Given the description of an element on the screen output the (x, y) to click on. 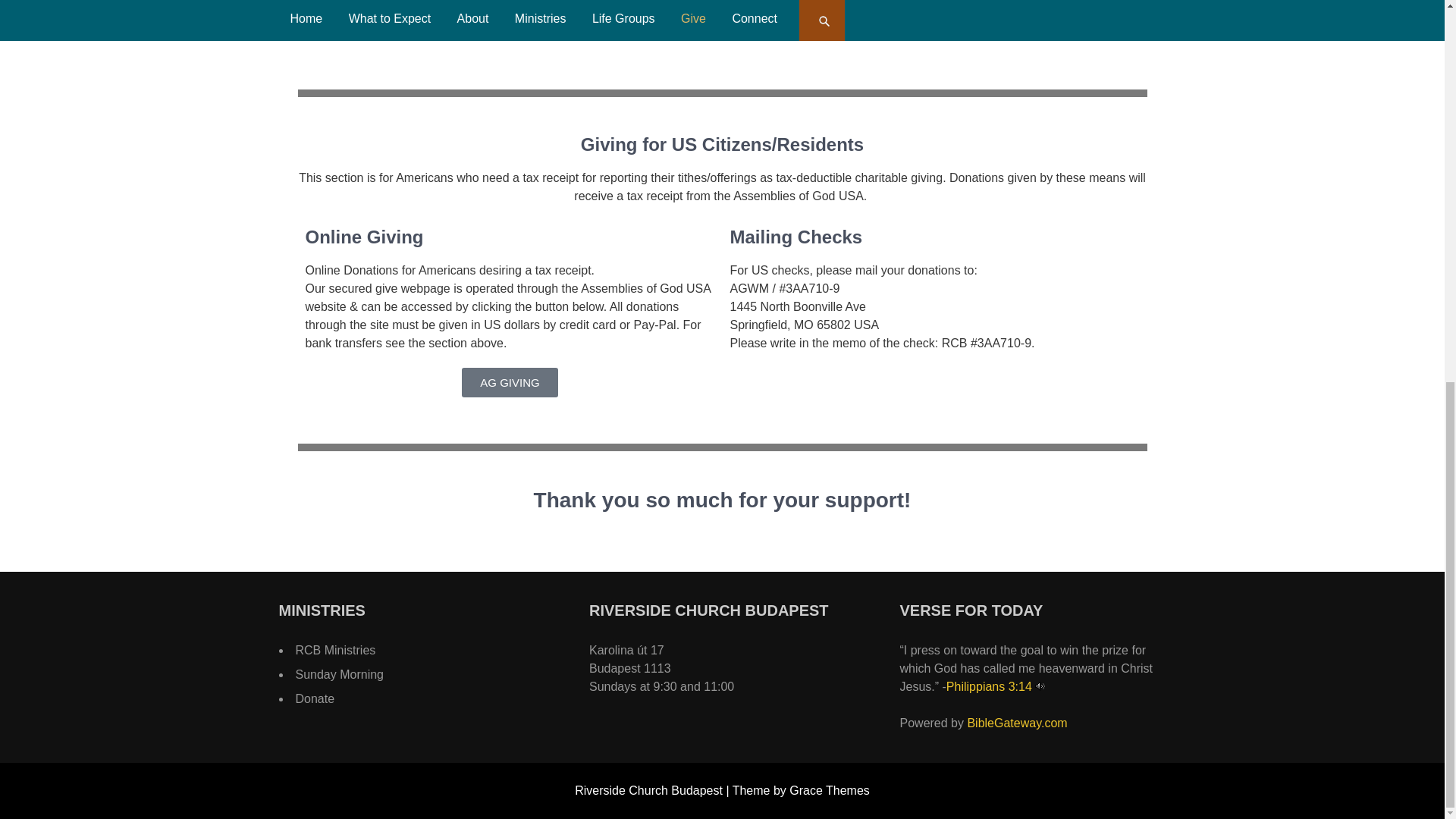
BibleGateway.com (1016, 722)
Donate (314, 698)
AG GIVING (509, 382)
Sunday Morning (339, 674)
RCB Ministries (335, 649)
Philippians 3:14 (989, 686)
